Given the description of an element on the screen output the (x, y) to click on. 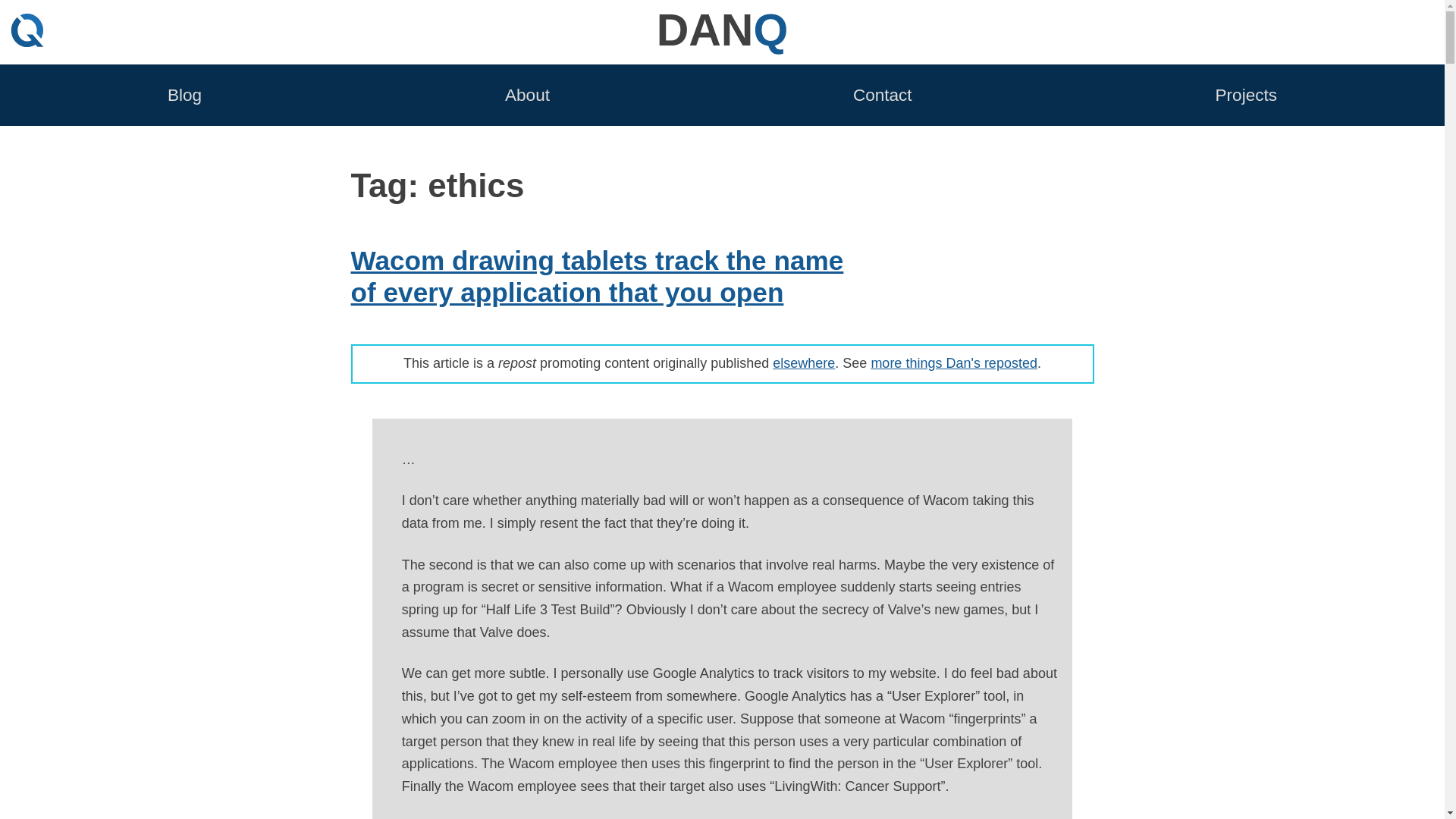
Projects (1245, 94)
elsewhere (803, 363)
About (527, 94)
Contact (882, 94)
Blog (184, 94)
more things Dan's reposted (953, 363)
